Given the description of an element on the screen output the (x, y) to click on. 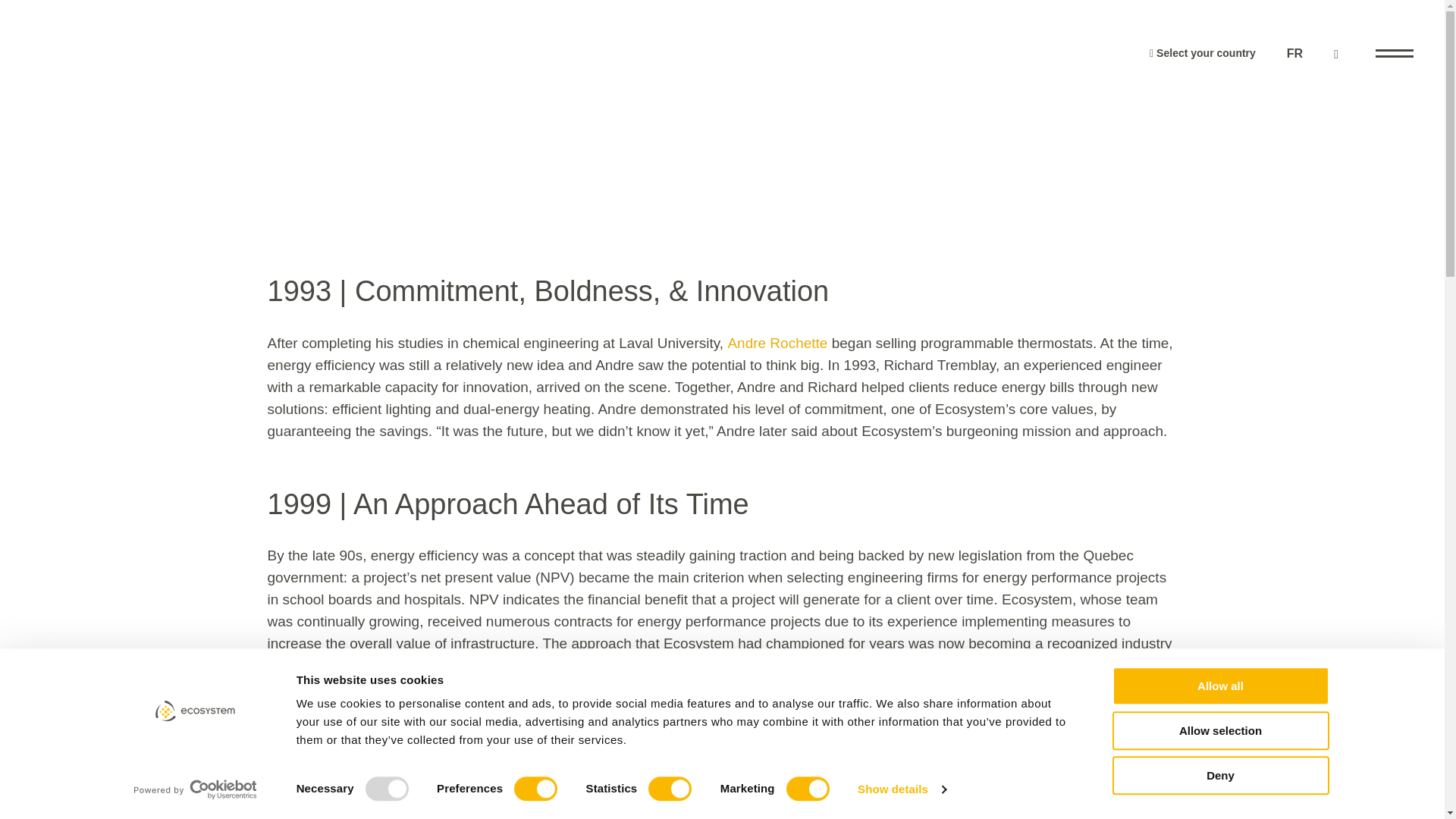
Allow all (1219, 685)
Deny (1219, 774)
Allow selection (1219, 730)
Select your country (1202, 52)
Show details (900, 789)
